Given the description of an element on the screen output the (x, y) to click on. 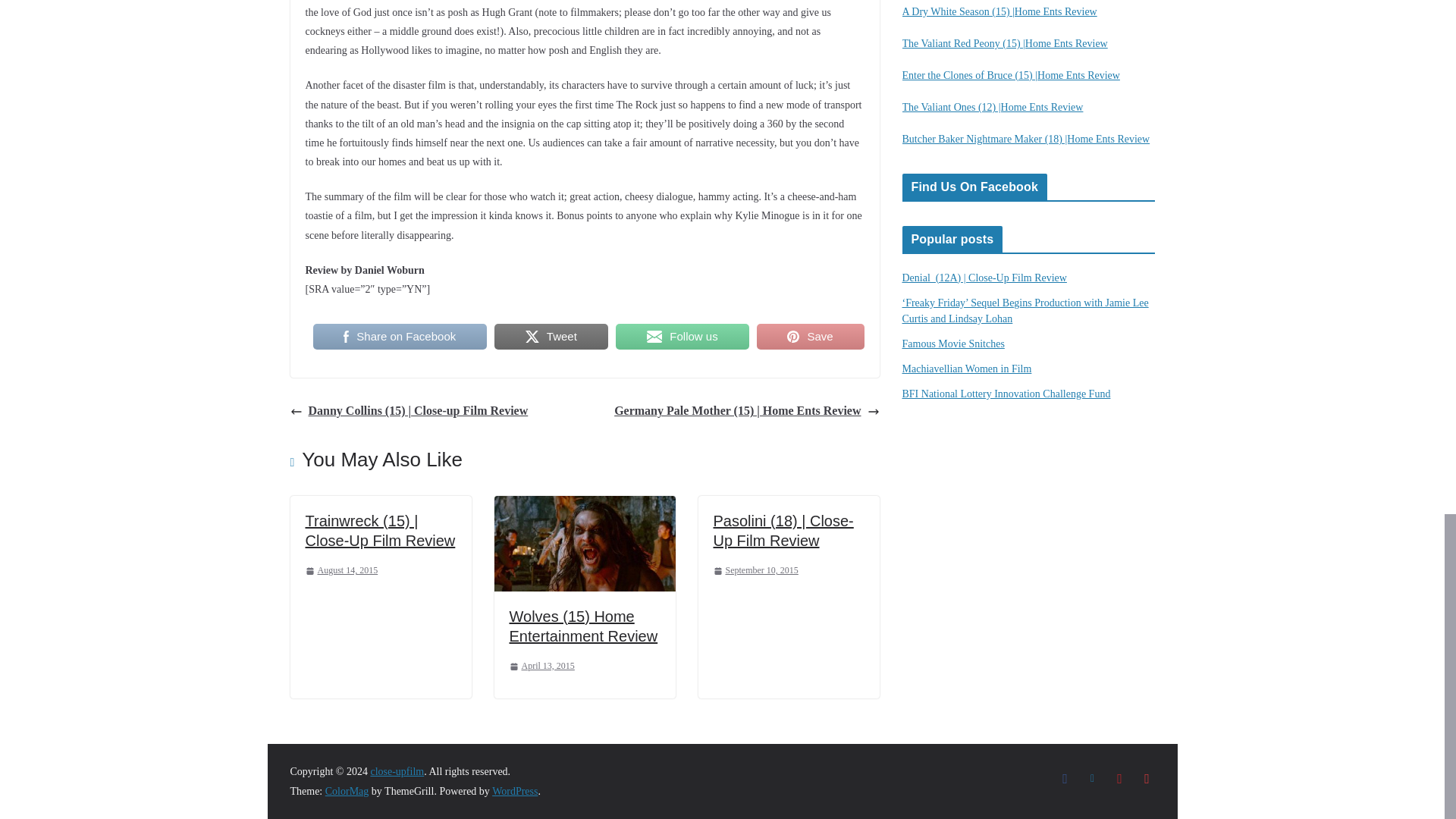
Tweet (551, 336)
Follow us (682, 336)
Save (810, 336)
Share on Facebook (399, 336)
